Given the description of an element on the screen output the (x, y) to click on. 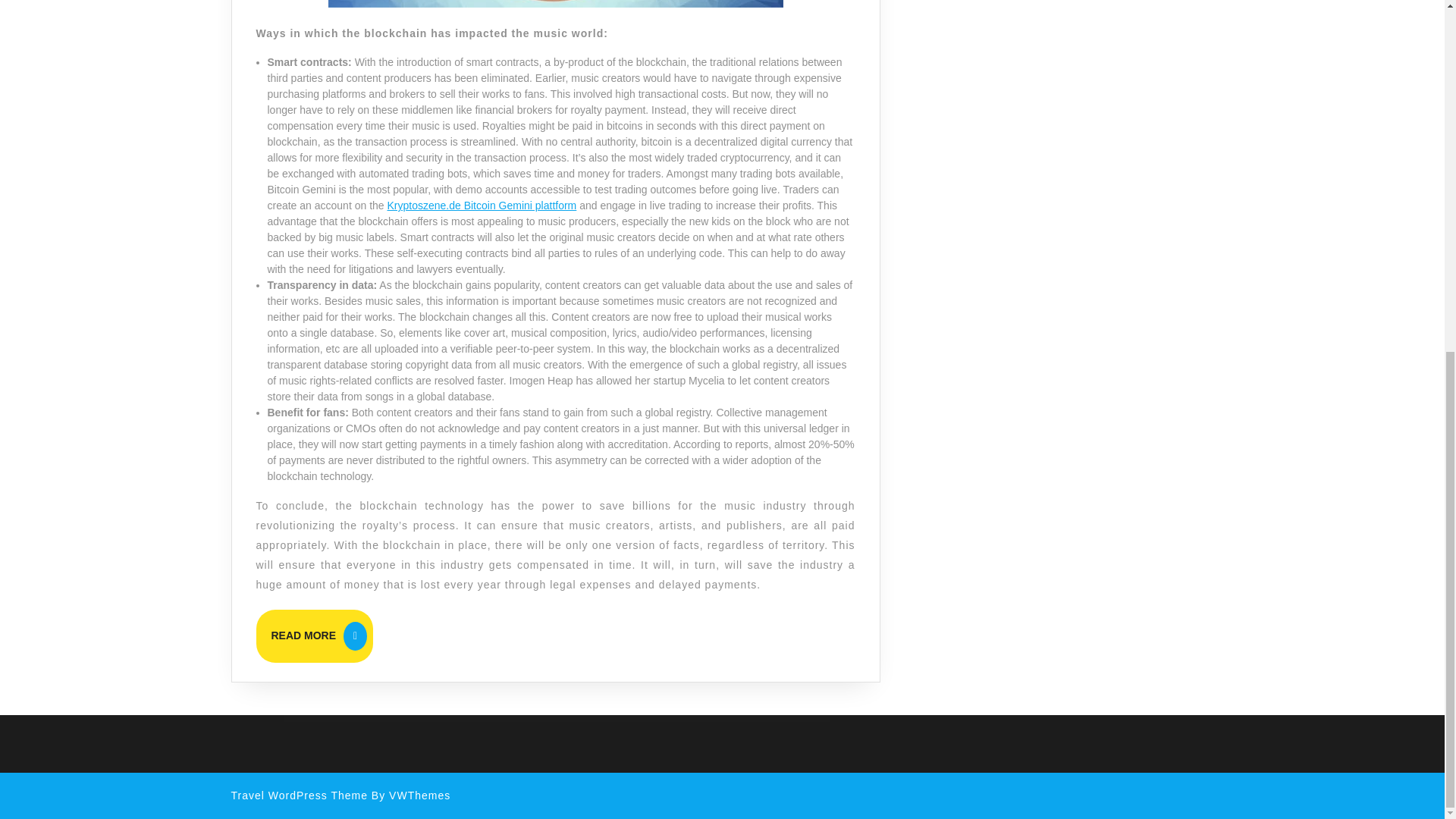
Travel WordPress Theme (298, 795)
Kryptoszene.de Bitcoin Gemini plattform (315, 635)
